Given the description of an element on the screen output the (x, y) to click on. 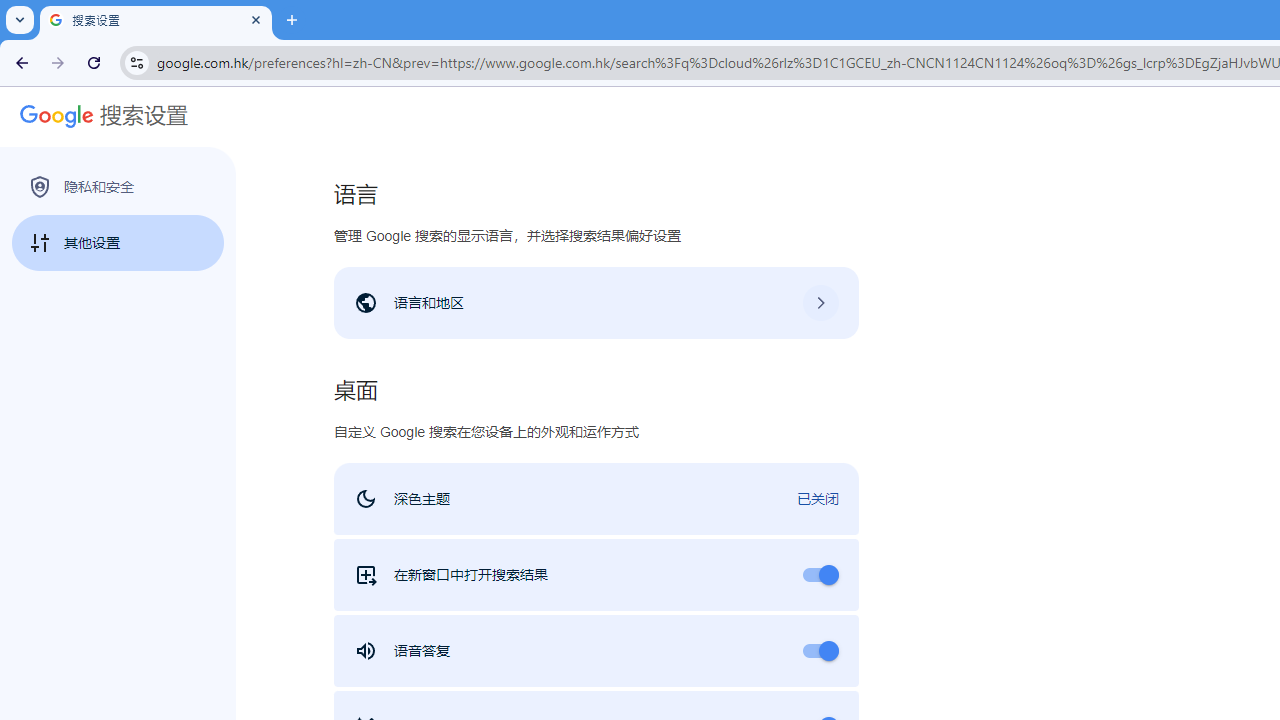
Google (49, 116)
